Given the description of an element on the screen output the (x, y) to click on. 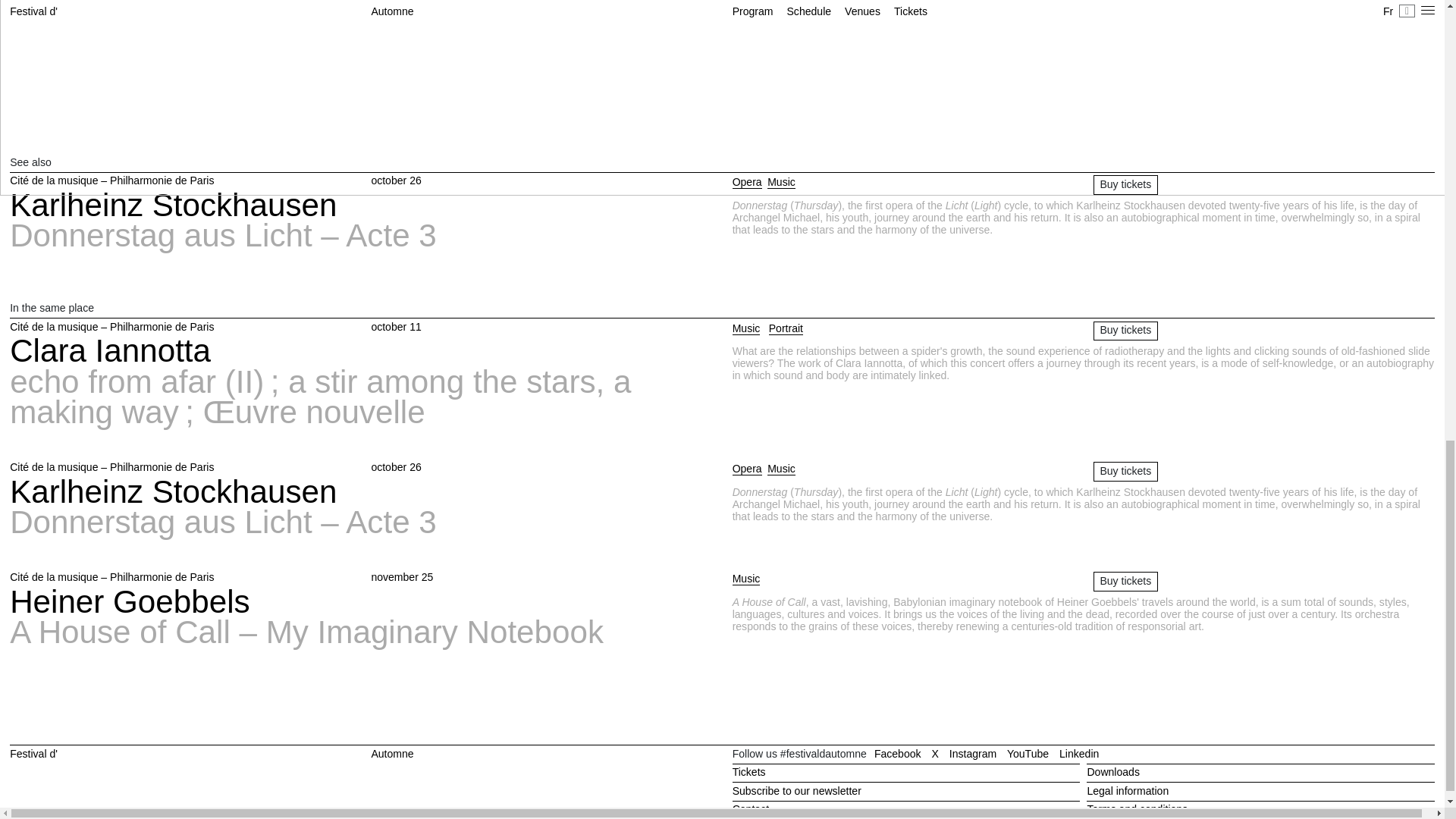
Instagram (360, 753)
Facebook (972, 753)
